Given the description of an element on the screen output the (x, y) to click on. 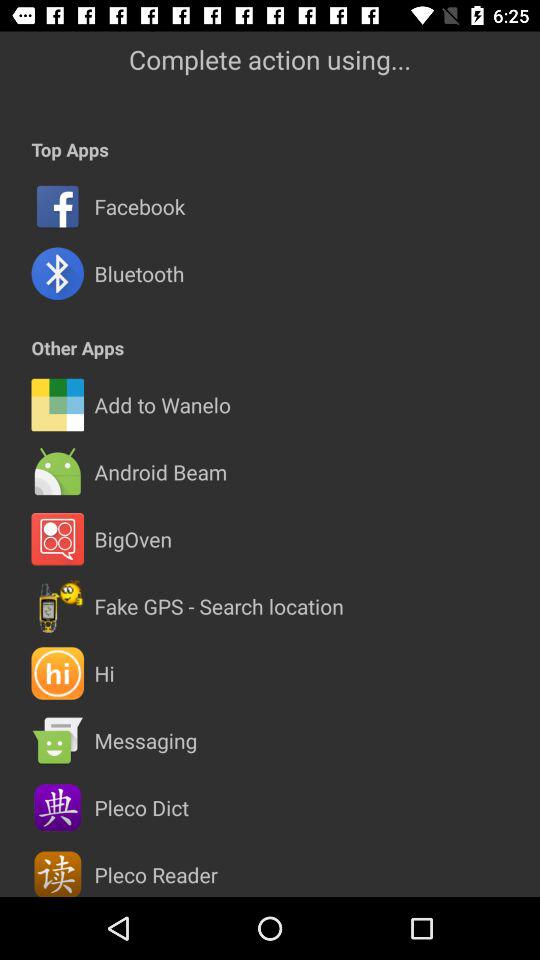
jump until the bigoven (133, 539)
